Given the description of an element on the screen output the (x, y) to click on. 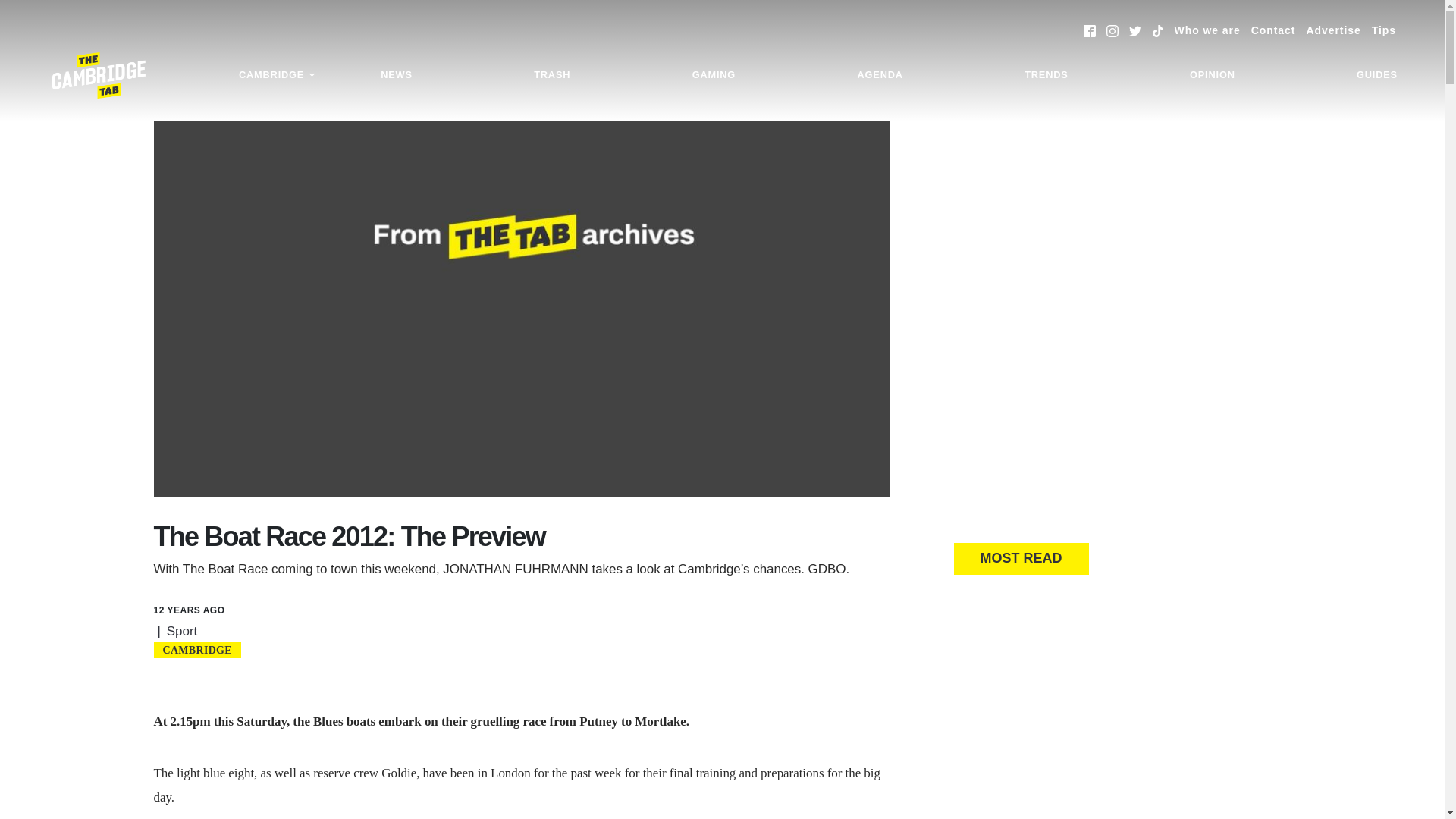
GAMING (713, 75)
TRASH (551, 75)
Who we are (1207, 29)
OPINION (1211, 75)
AGENDA (879, 75)
TRENDS (1045, 75)
Tips (1383, 29)
CAMBRIDGE (277, 75)
GUIDES (1377, 75)
Contact (1272, 29)
NEWS (396, 75)
Advertise (1332, 29)
